Given the description of an element on the screen output the (x, y) to click on. 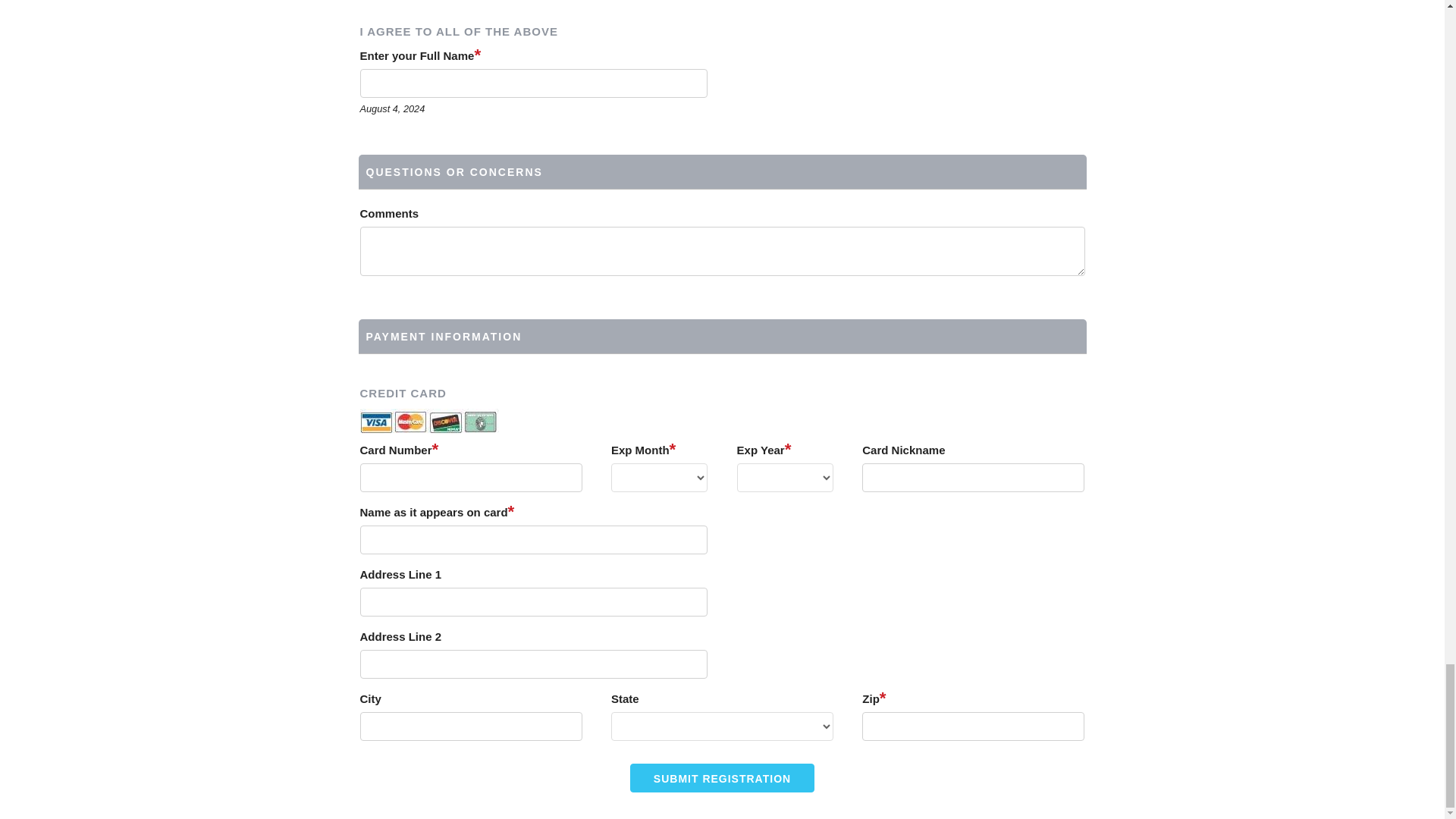
Submit this information (721, 777)
